Given the description of an element on the screen output the (x, y) to click on. 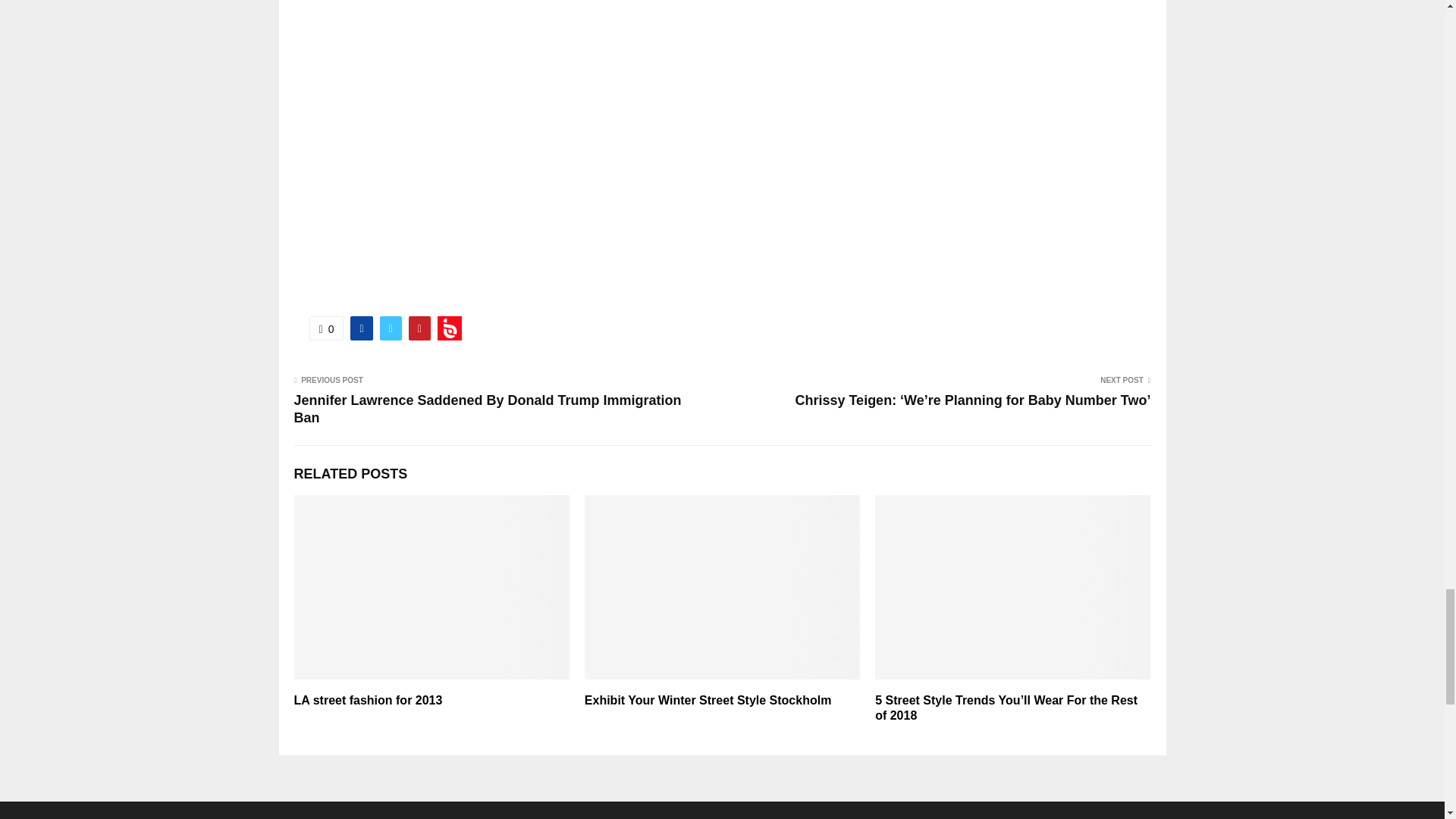
0 (325, 327)
Jennifer Lawrence Saddened By Donald Trump Immigration Ban (487, 409)
Like (325, 327)
